Given the description of an element on the screen output the (x, y) to click on. 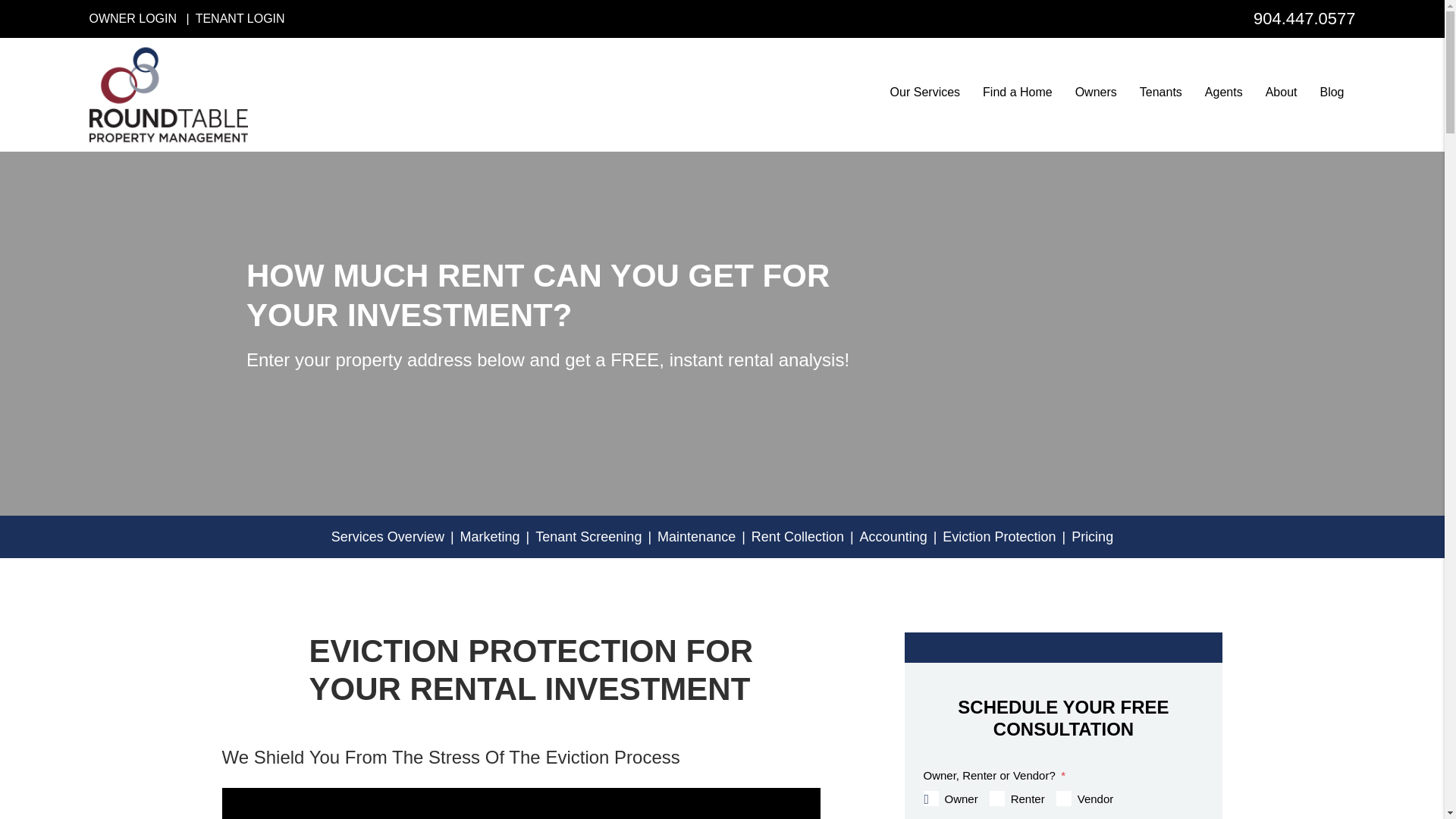
opens in new window (240, 18)
Agents (1224, 97)
Tenants (1161, 97)
opens in new window (132, 18)
TENANT LOGIN (240, 18)
OWNER LOGIN (132, 18)
Owners (1095, 97)
Our Services (924, 97)
Blog (1331, 97)
